Given the description of an element on the screen output the (x, y) to click on. 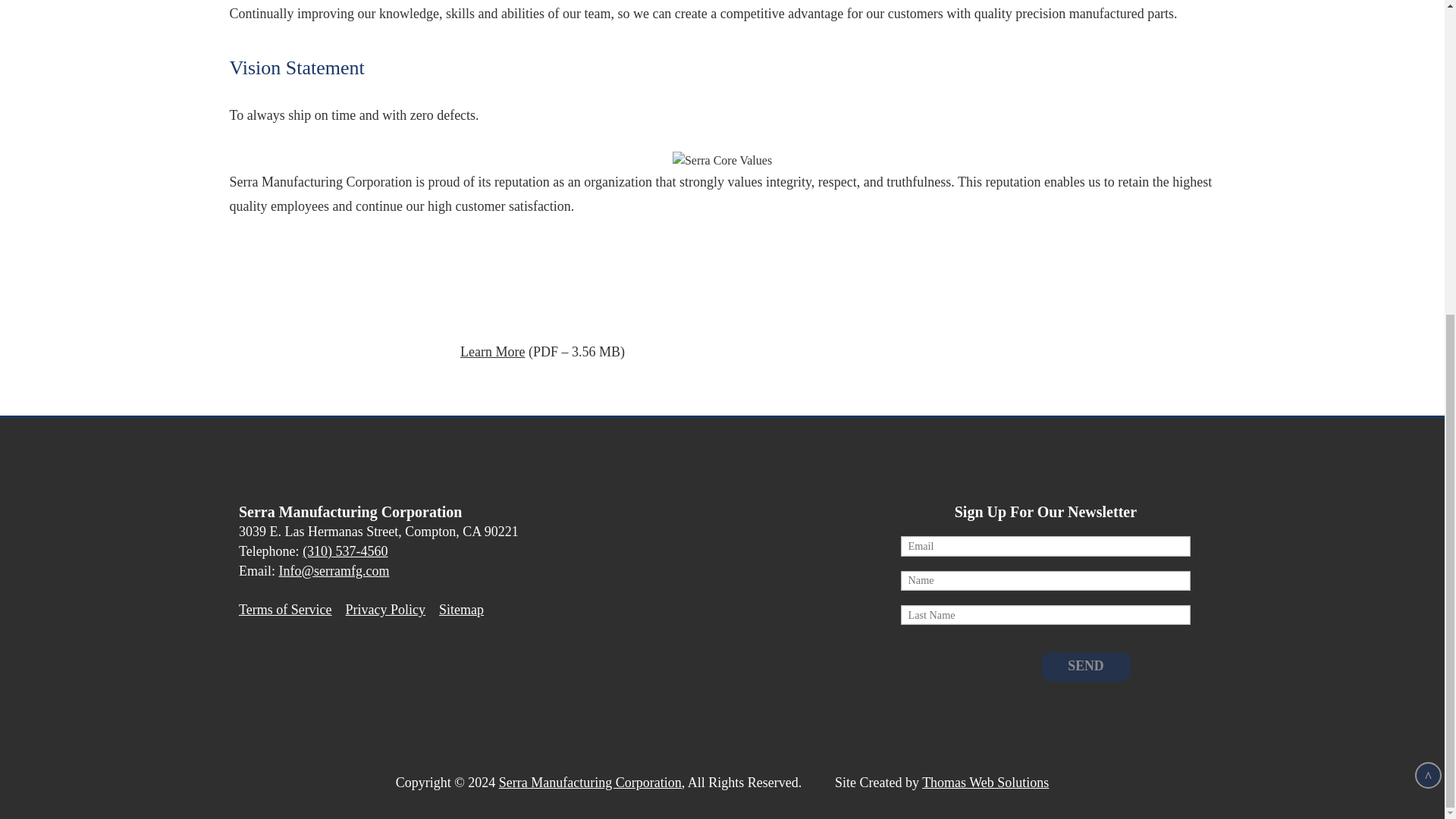
Serra Core Values (721, 160)
Letter from the CEO (492, 351)
Learn More (492, 351)
Terms of Service (284, 609)
Google (253, 667)
Send (1086, 666)
Thomas Web Solutions (984, 782)
Serra Manufacturing Corporation (590, 782)
Facebook (294, 667)
